Given the description of an element on the screen output the (x, y) to click on. 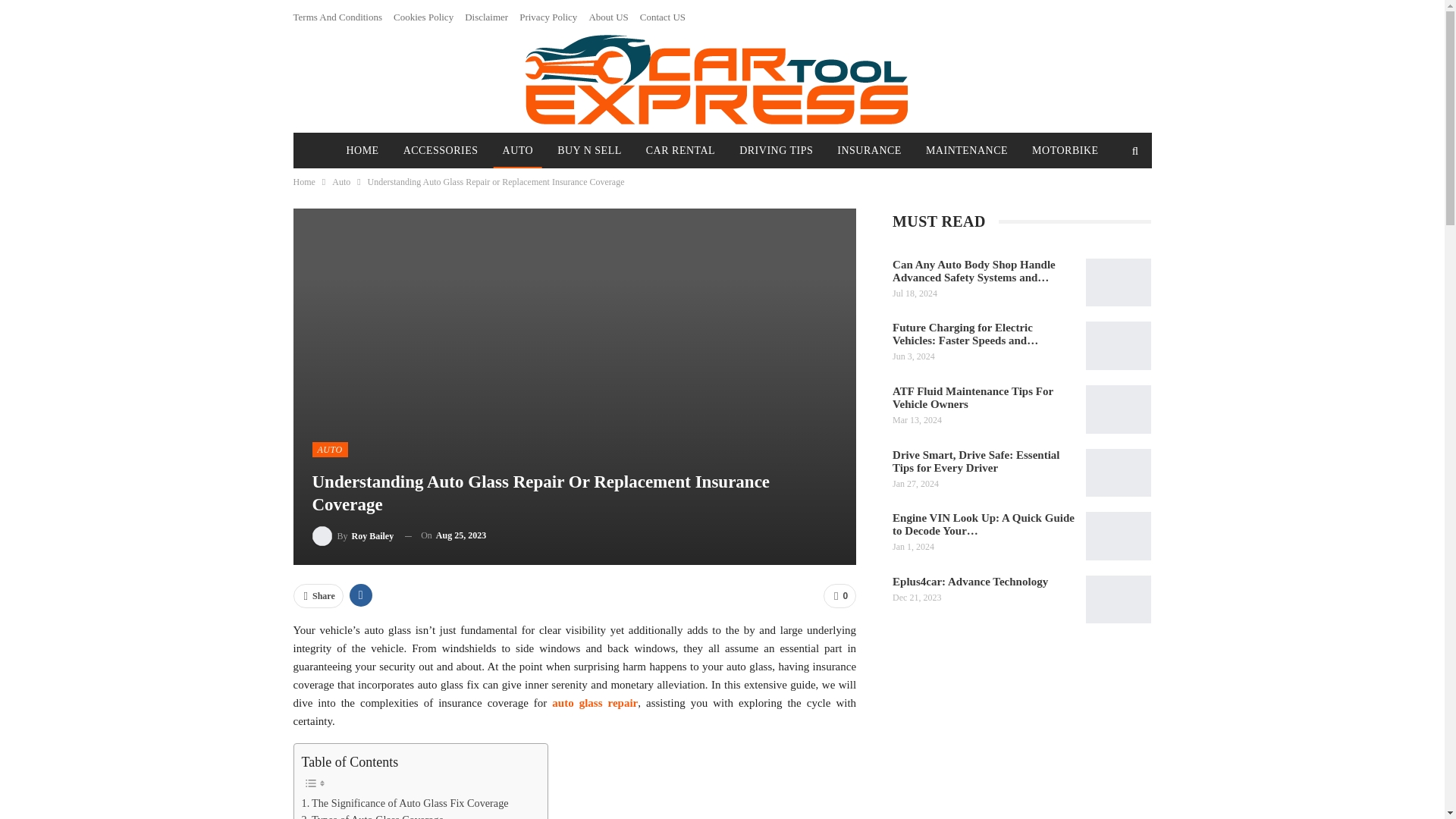
CAR RENTAL (680, 150)
Disclaimer (486, 16)
By Roy Bailey (353, 535)
HOME (361, 150)
Types of Auto Glass Coverage (372, 815)
Types of Auto Glass Coverage (372, 815)
DRIVING TIPS (776, 150)
The Significance of Auto Glass Fix Coverage (404, 803)
MAINTENANCE (966, 150)
INSURANCE (869, 150)
Browse Author Articles (353, 535)
Privacy Policy (547, 16)
BUY N SELL (589, 150)
Terms And Conditions (336, 16)
